Given the description of an element on the screen output the (x, y) to click on. 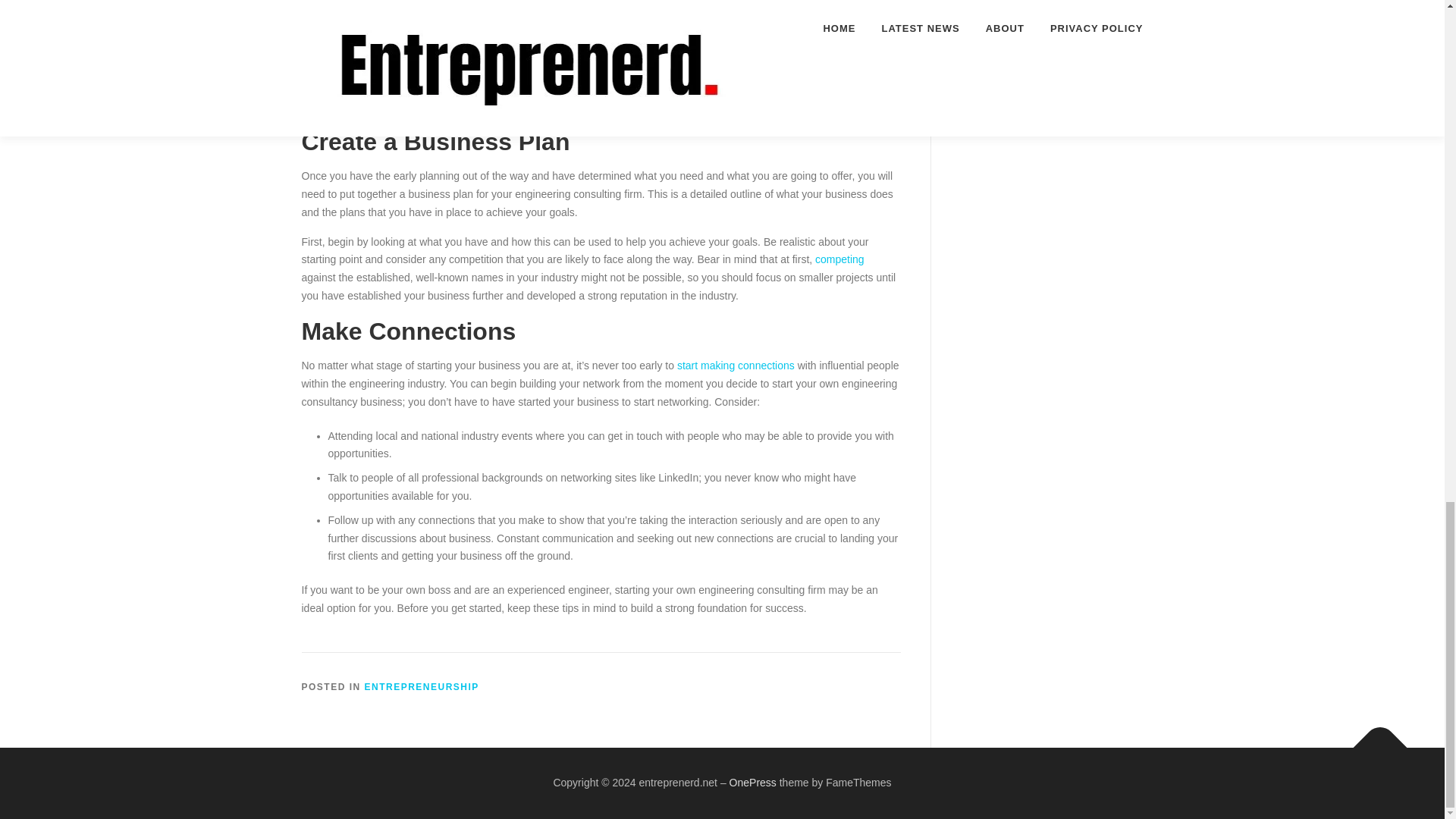
ENTREPRENEURSHIP (422, 686)
competing (839, 259)
Kettering University Online (567, 87)
Back To Top (1372, 740)
OnePress (752, 782)
start making connections (735, 365)
